Given the description of an element on the screen output the (x, y) to click on. 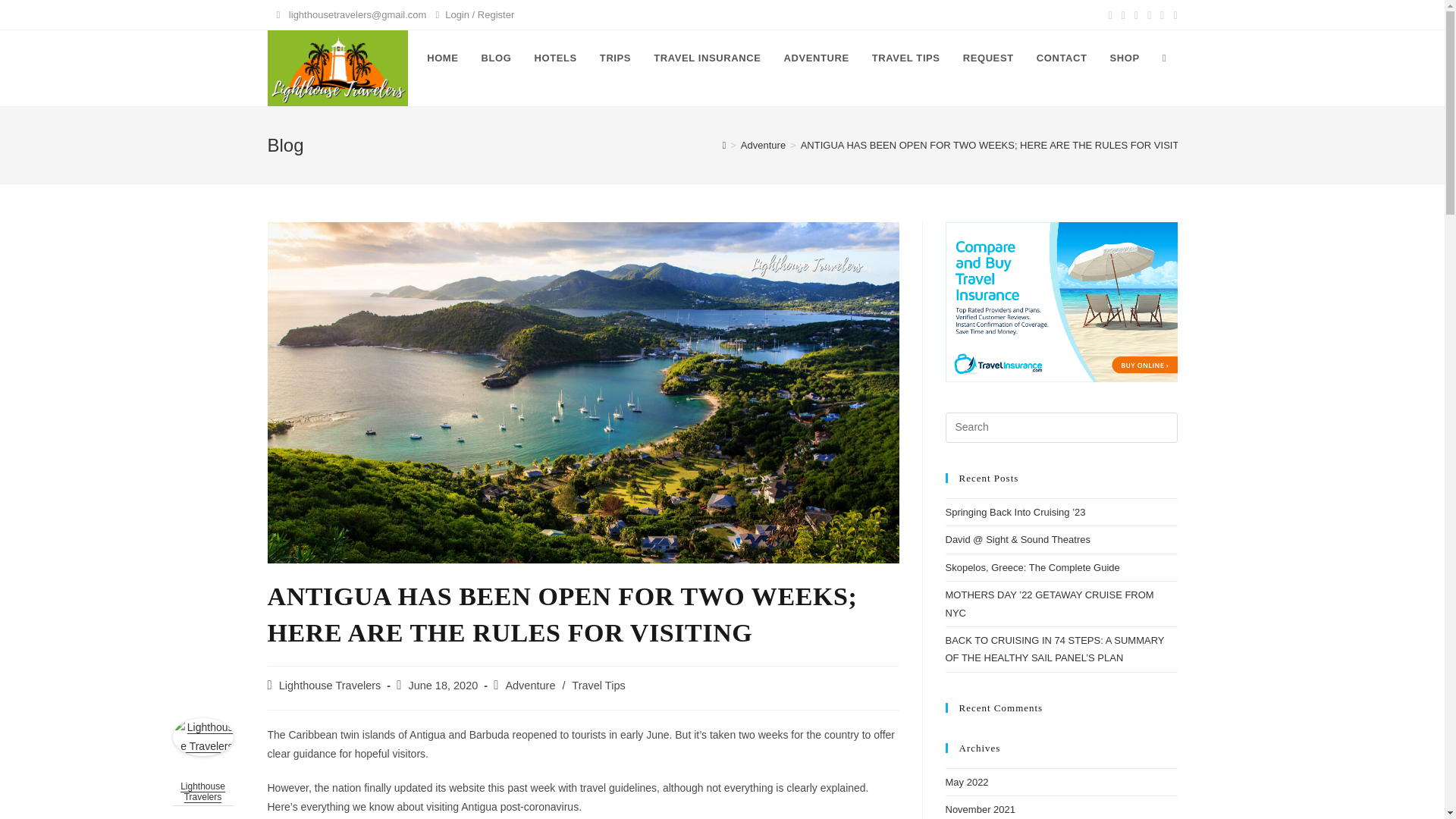
BLOG (496, 58)
Lighthouse Travelers (330, 685)
Posts by Lighthouse Travelers (330, 685)
Adventure (529, 685)
SHOP (1123, 58)
HOTELS (555, 58)
Lighthouse Travelers (202, 736)
Adventure (763, 144)
Register (495, 14)
Lighthouse Travelers (202, 791)
